Given the description of an element on the screen output the (x, y) to click on. 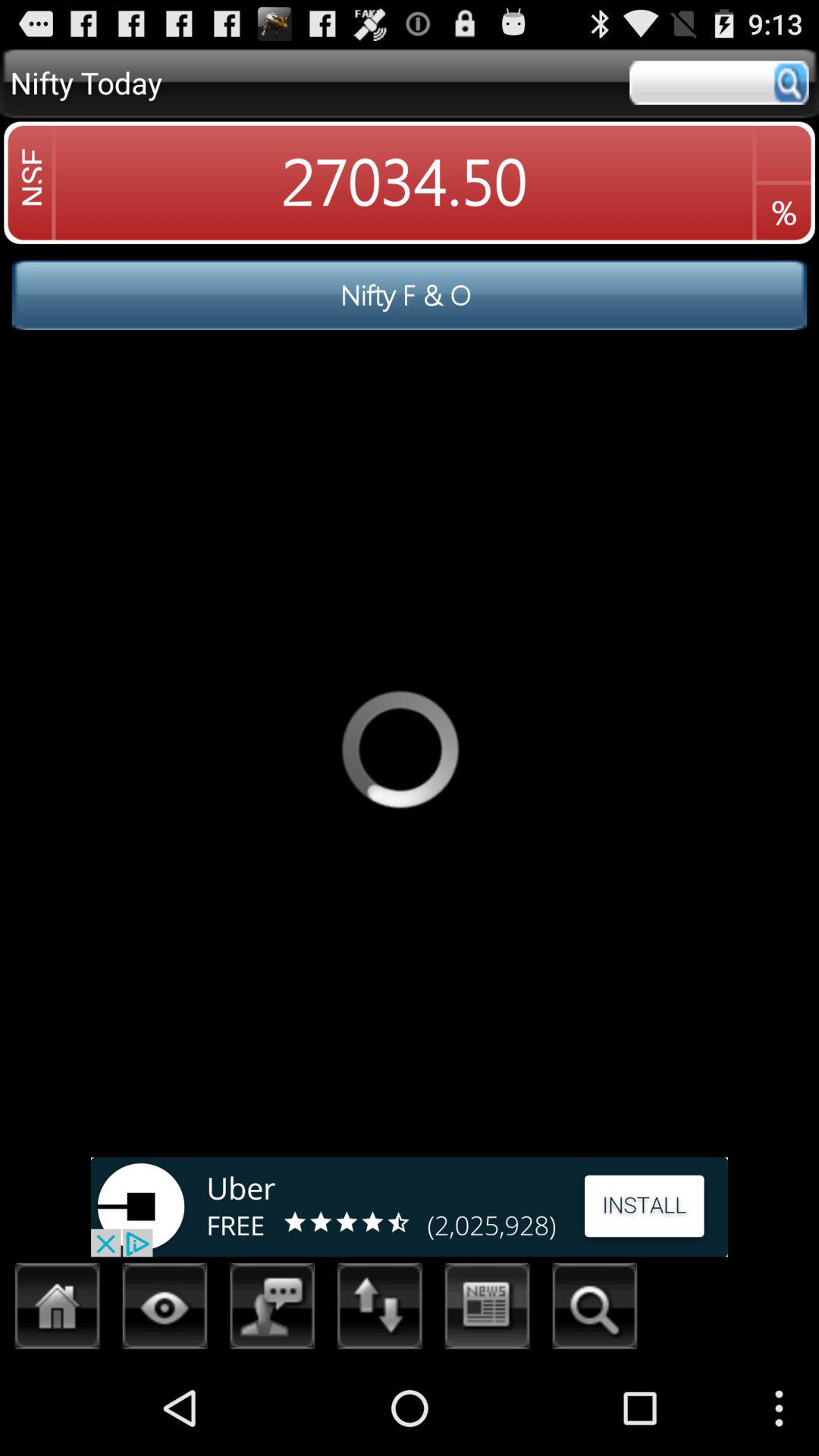
home page (57, 1310)
